Given the description of an element on the screen output the (x, y) to click on. 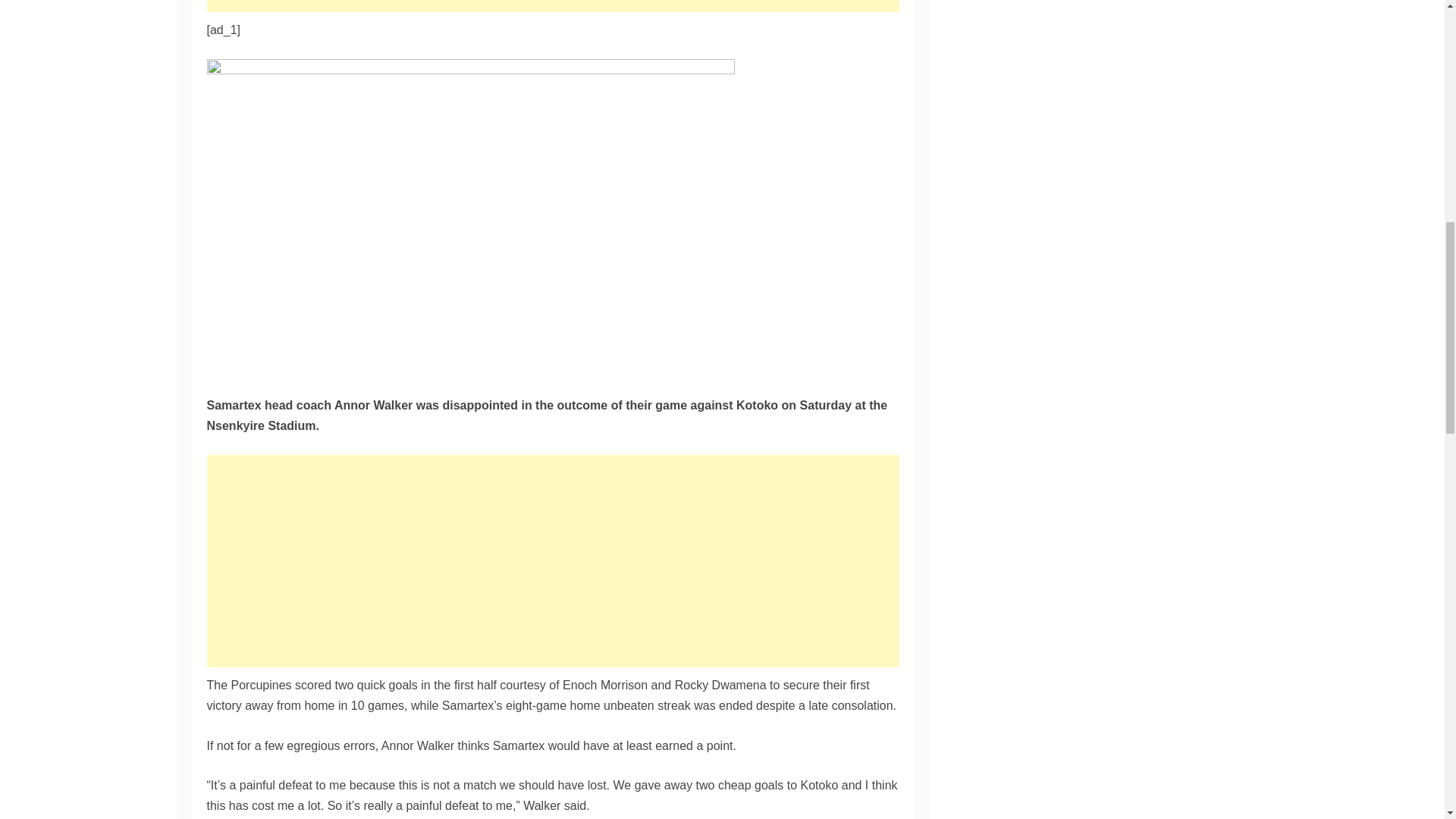
Advertisement (552, 6)
